Given the description of an element on the screen output the (x, y) to click on. 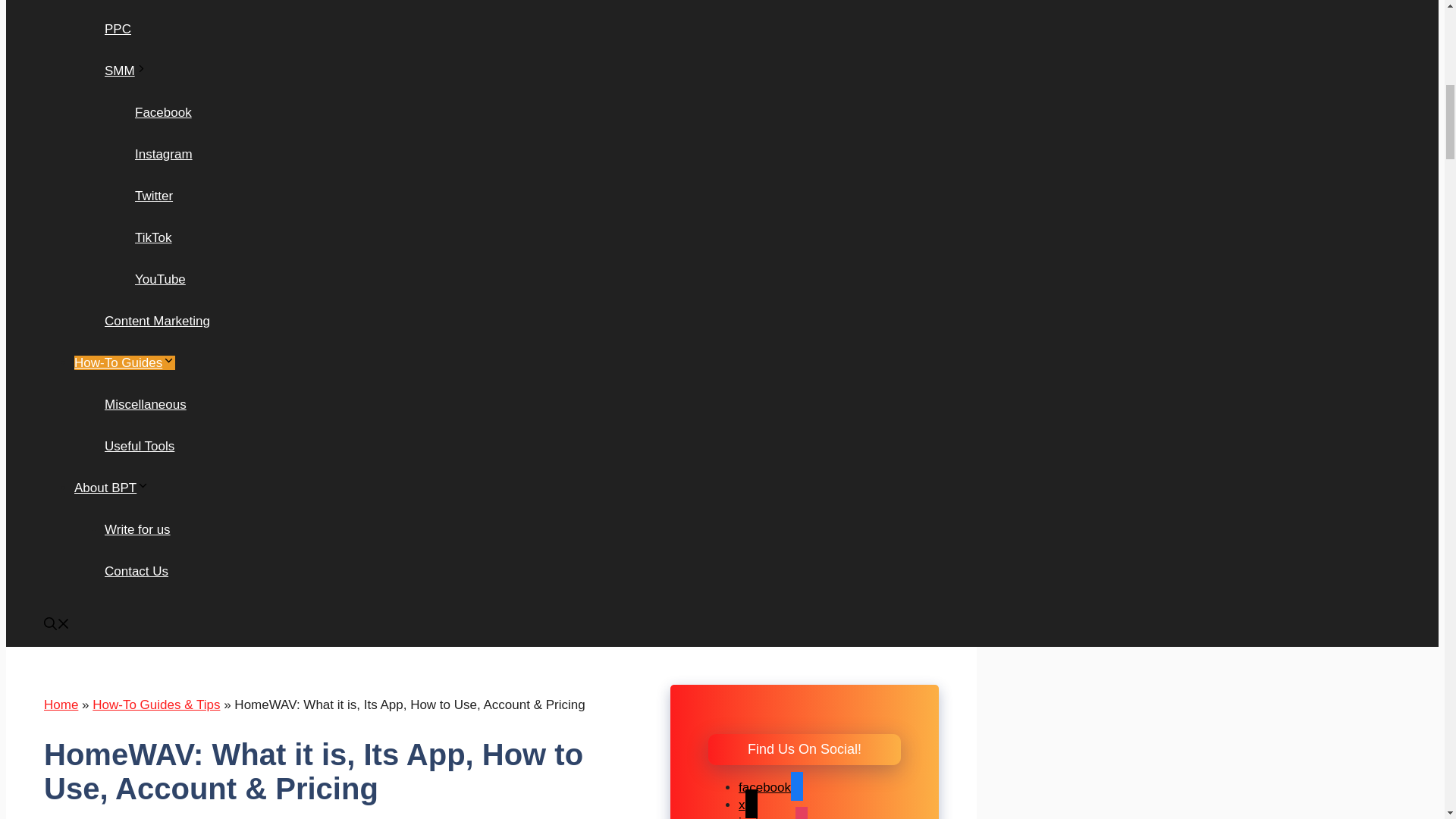
About BPT (111, 487)
Contact Us (136, 571)
Content Marketing (156, 320)
TikTok (153, 237)
PPC (117, 29)
Facebook (163, 112)
Write for us (137, 529)
Home (60, 704)
SMM (126, 70)
How-To Guides (124, 362)
